Given the description of an element on the screen output the (x, y) to click on. 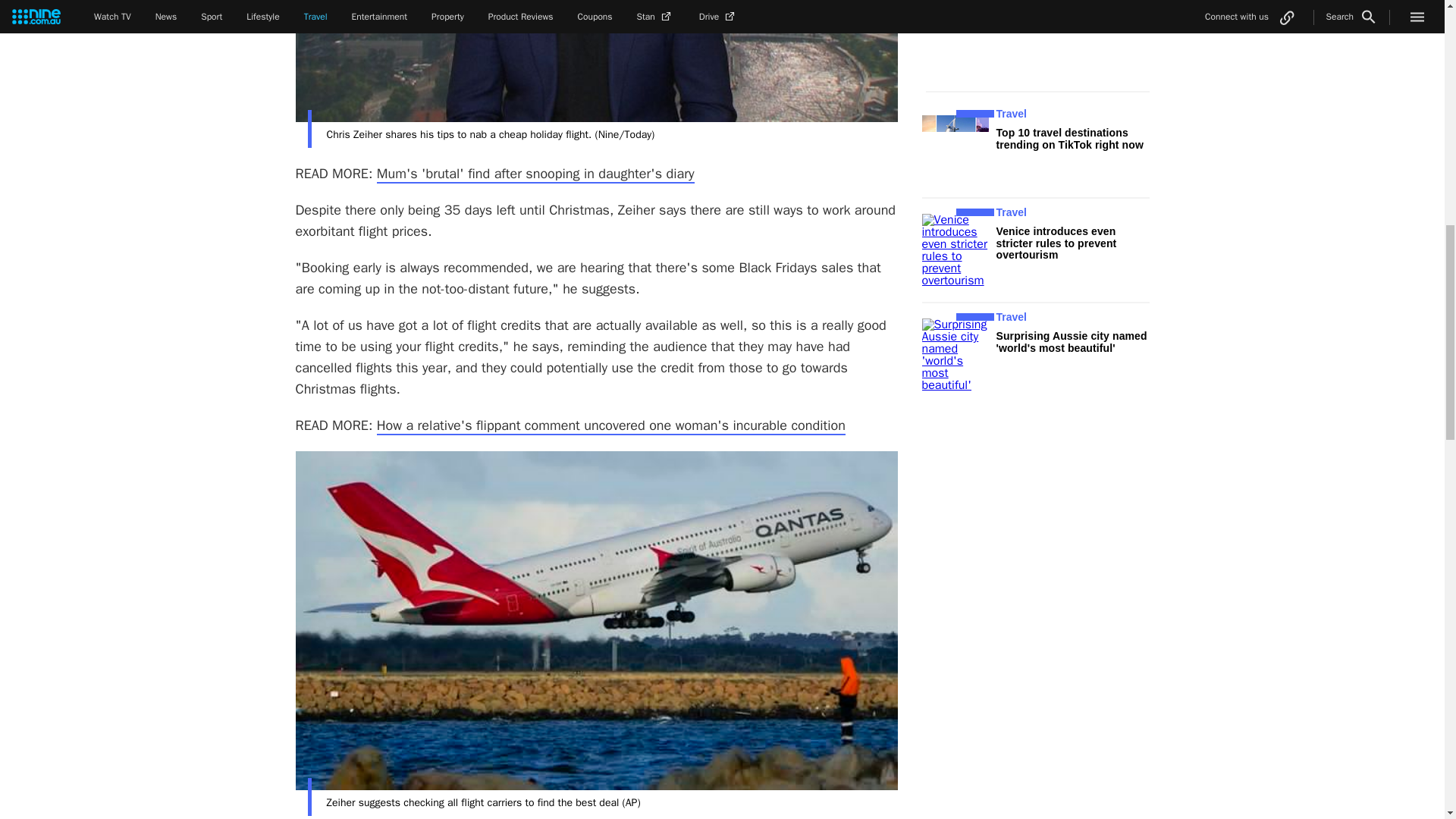
Mum's 'brutal' find after snooping in daughter's diary (535, 174)
